Given the description of an element on the screen output the (x, y) to click on. 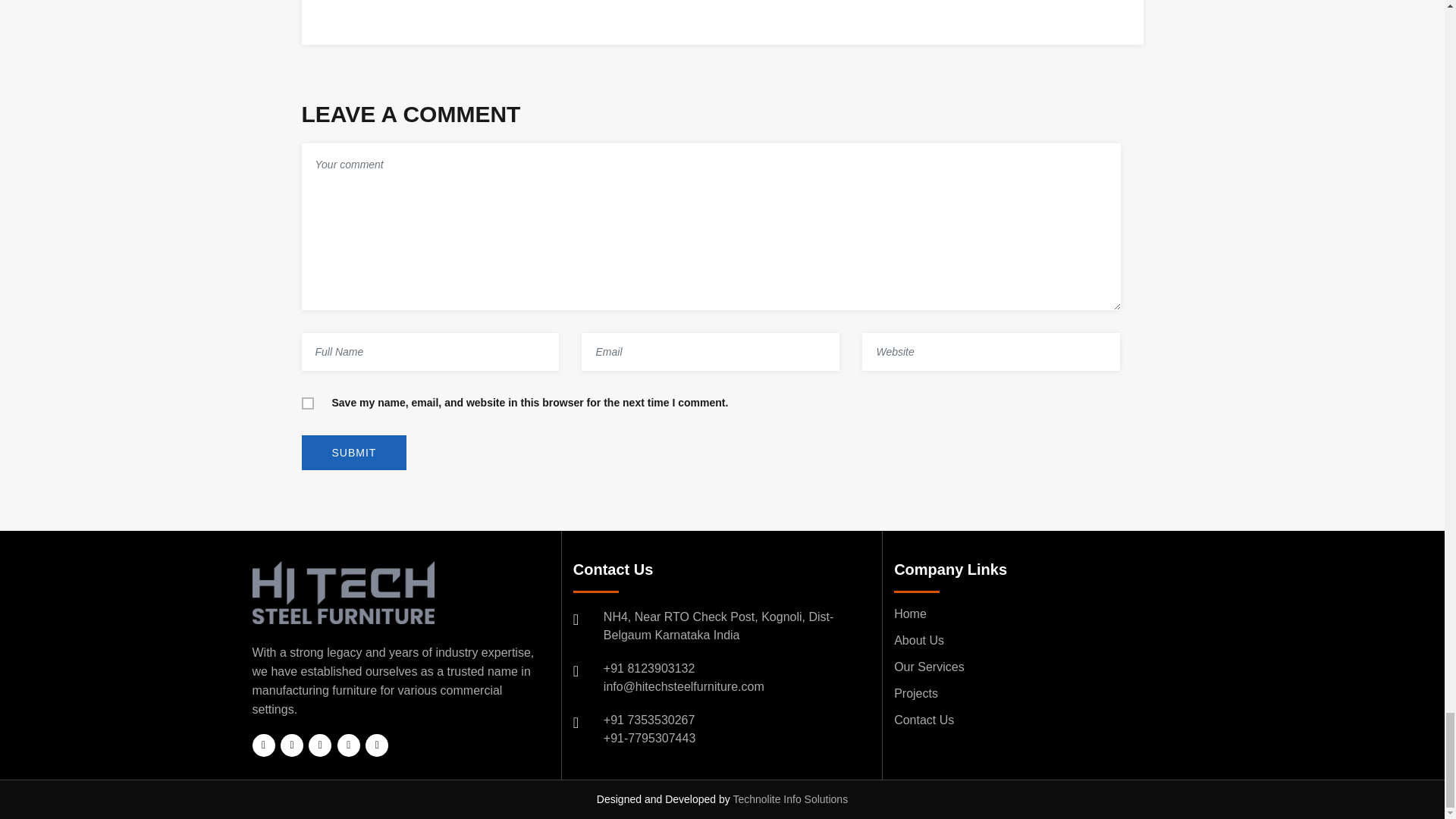
Projects (915, 693)
About Us (918, 640)
Submit (354, 452)
Our Services (928, 666)
Technolite Info Solutions (789, 799)
Contact Us (923, 719)
Submit (354, 452)
Home (909, 613)
